Given the description of an element on the screen output the (x, y) to click on. 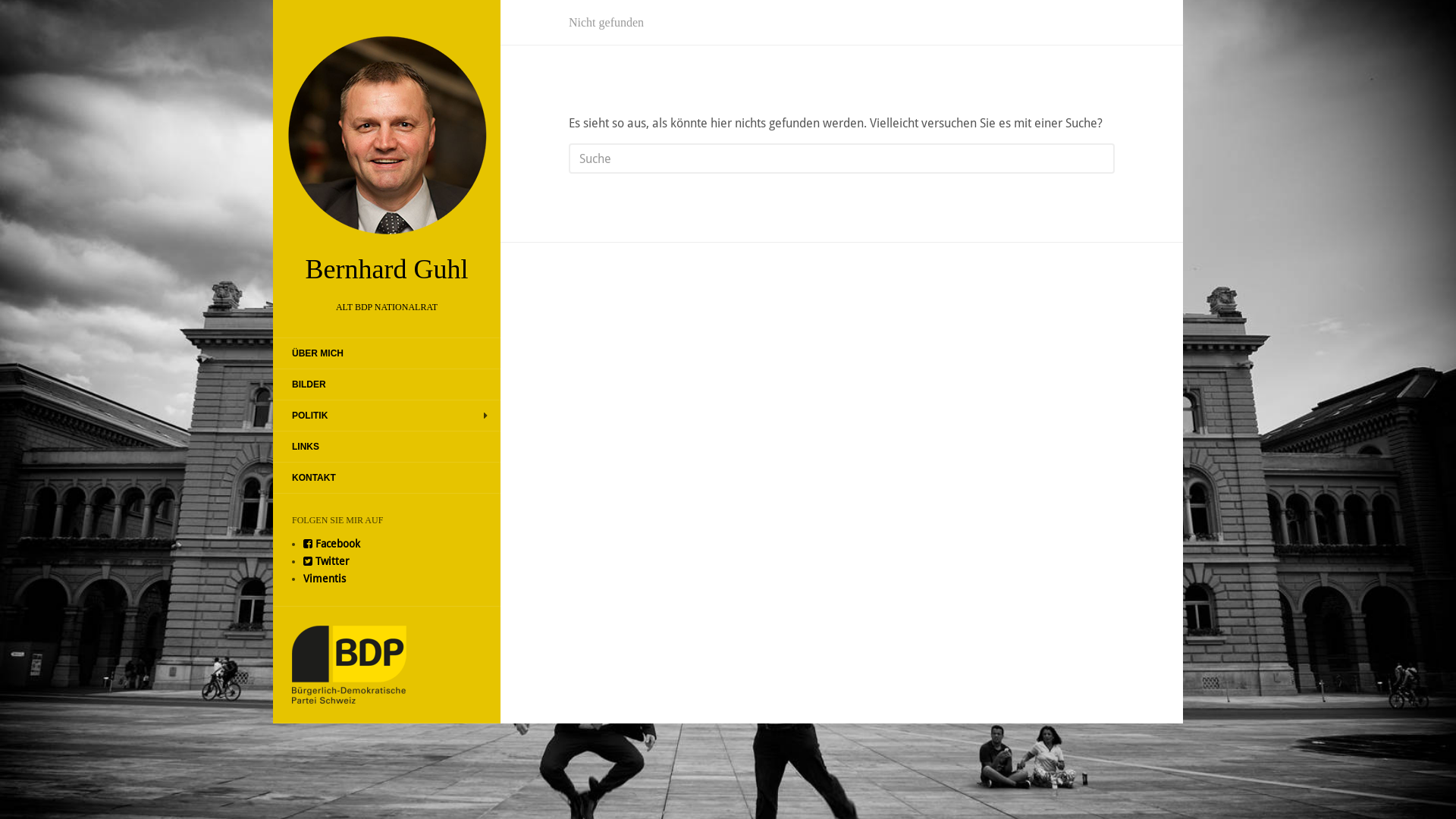
BDP Aargau Element type: hover (348, 664)
Facebook Element type: text (331, 543)
Vimentis Element type: text (324, 577)
Twitter Element type: text (326, 561)
KONTAKT Element type: text (313, 477)
LINKS Element type: text (305, 446)
POLITIK Element type: text (309, 415)
Suche Element type: text (21, 12)
BILDER Element type: text (309, 384)
Bernhard Guhl Element type: text (386, 155)
